Given the description of an element on the screen output the (x, y) to click on. 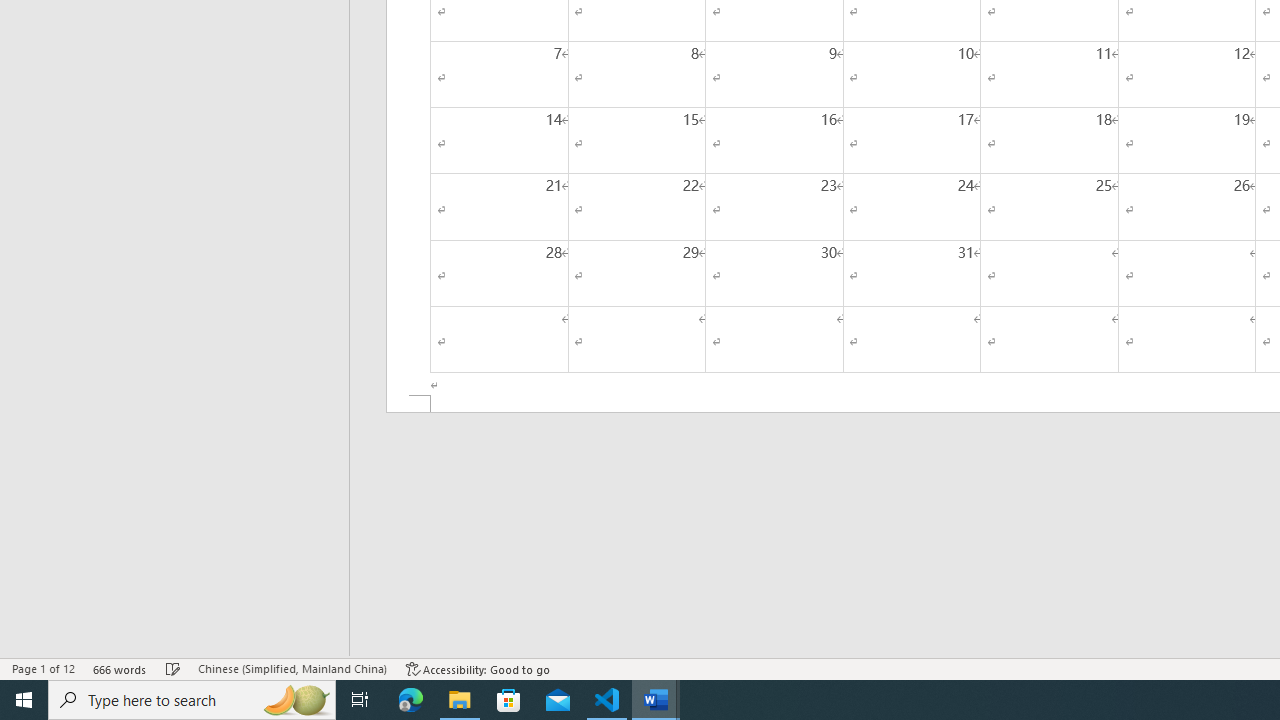
Accessibility Checker Accessibility: Good to go (478, 668)
